Given the description of an element on the screen output the (x, y) to click on. 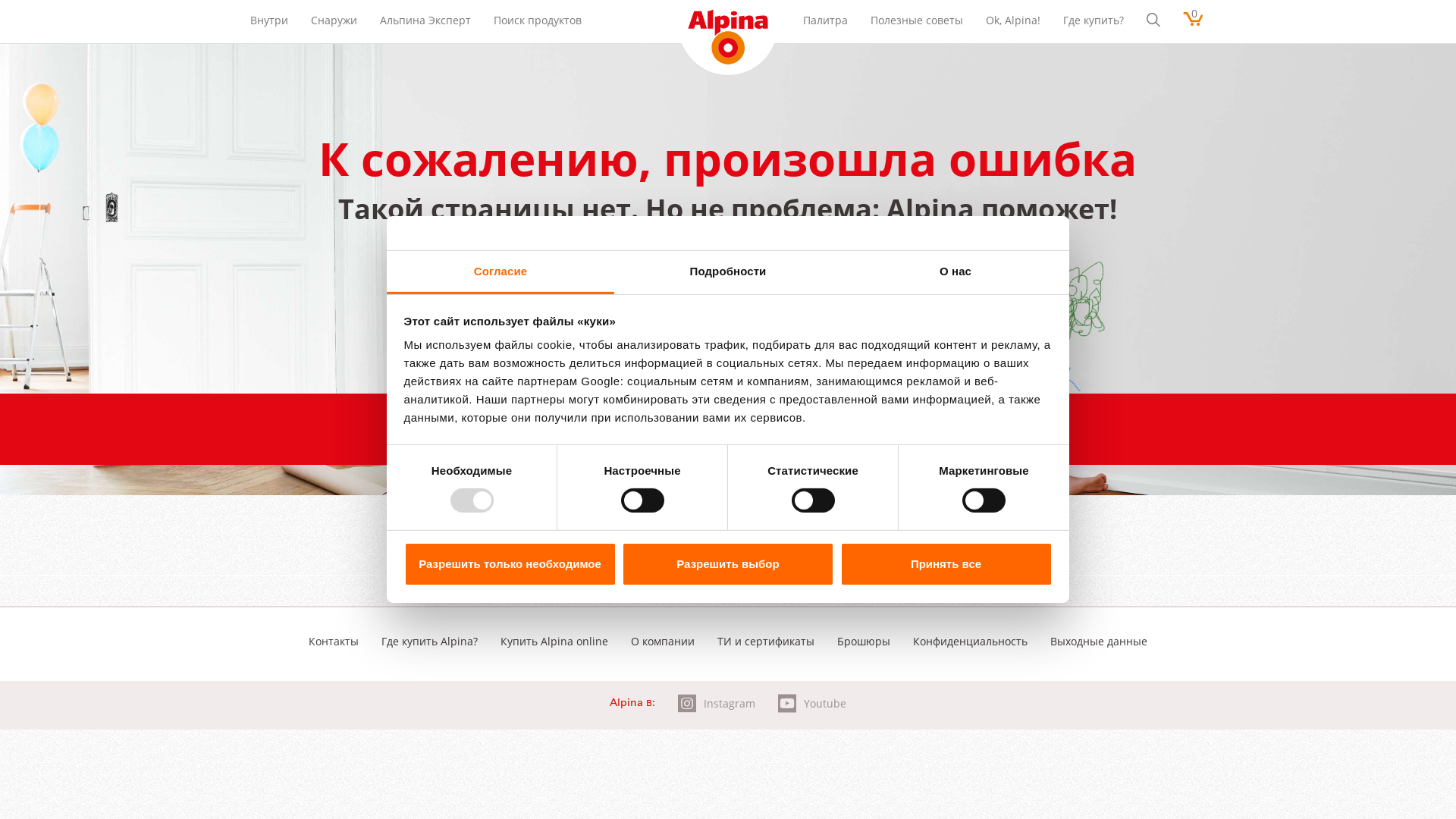
Ok, Alpina! Element type: text (1012, 20)
0 Element type: text (1194, 13)
